Given the description of an element on the screen output the (x, y) to click on. 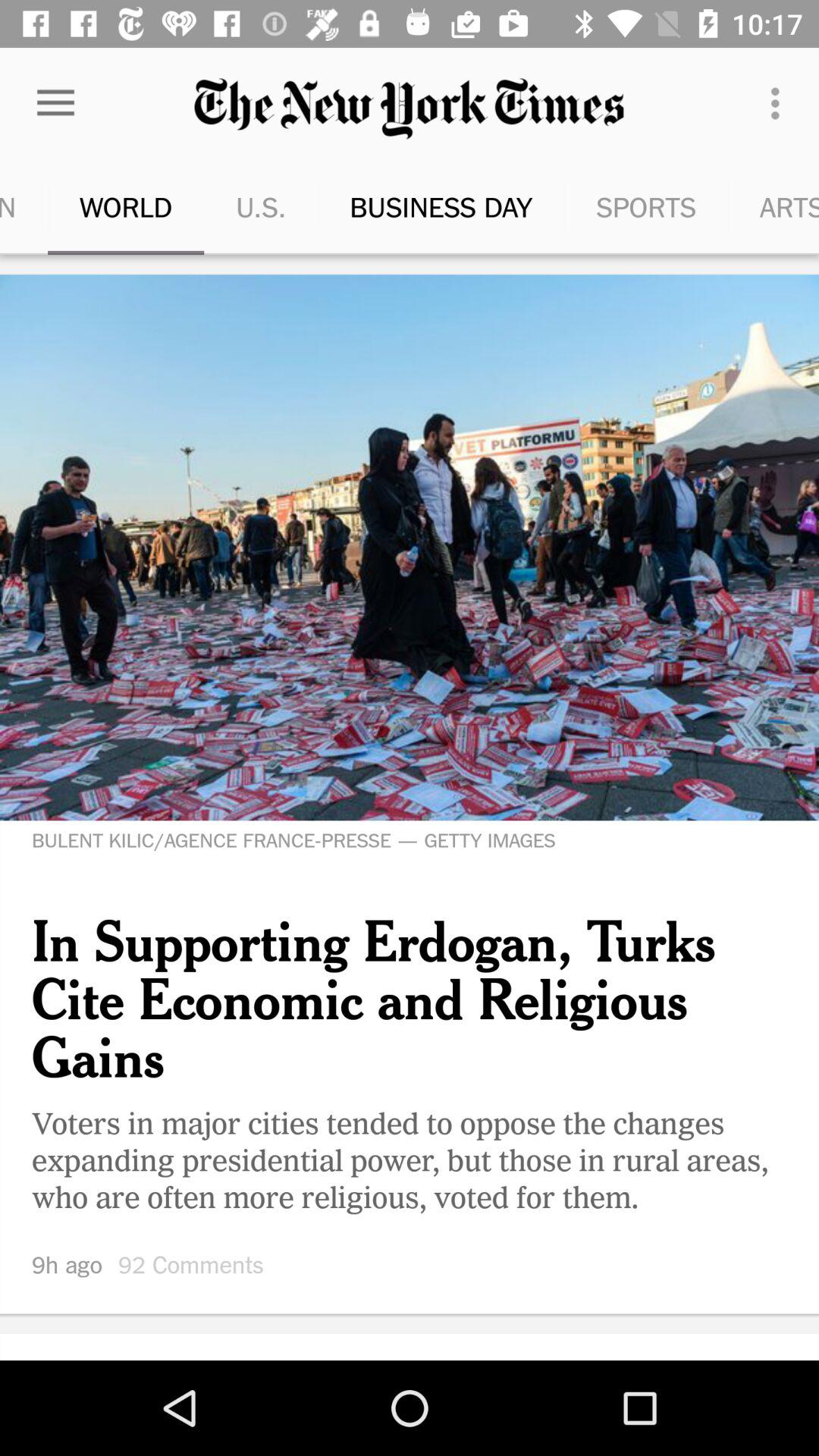
swipe until the sports (607, 206)
